Given the description of an element on the screen output the (x, y) to click on. 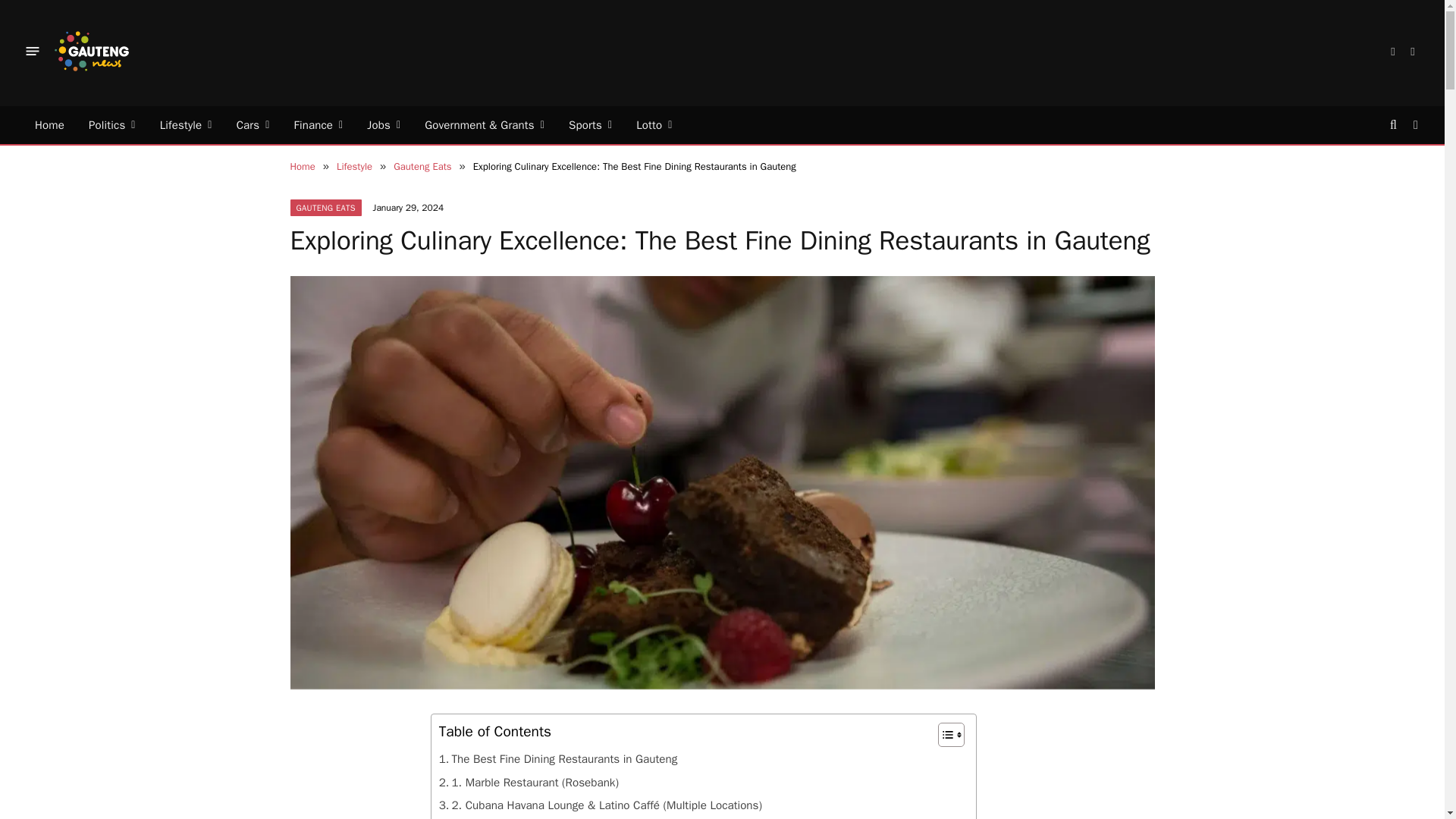
Gauteng News (91, 50)
Lifestyle (186, 125)
Home (50, 125)
Politics (112, 125)
